Given the description of an element on the screen output the (x, y) to click on. 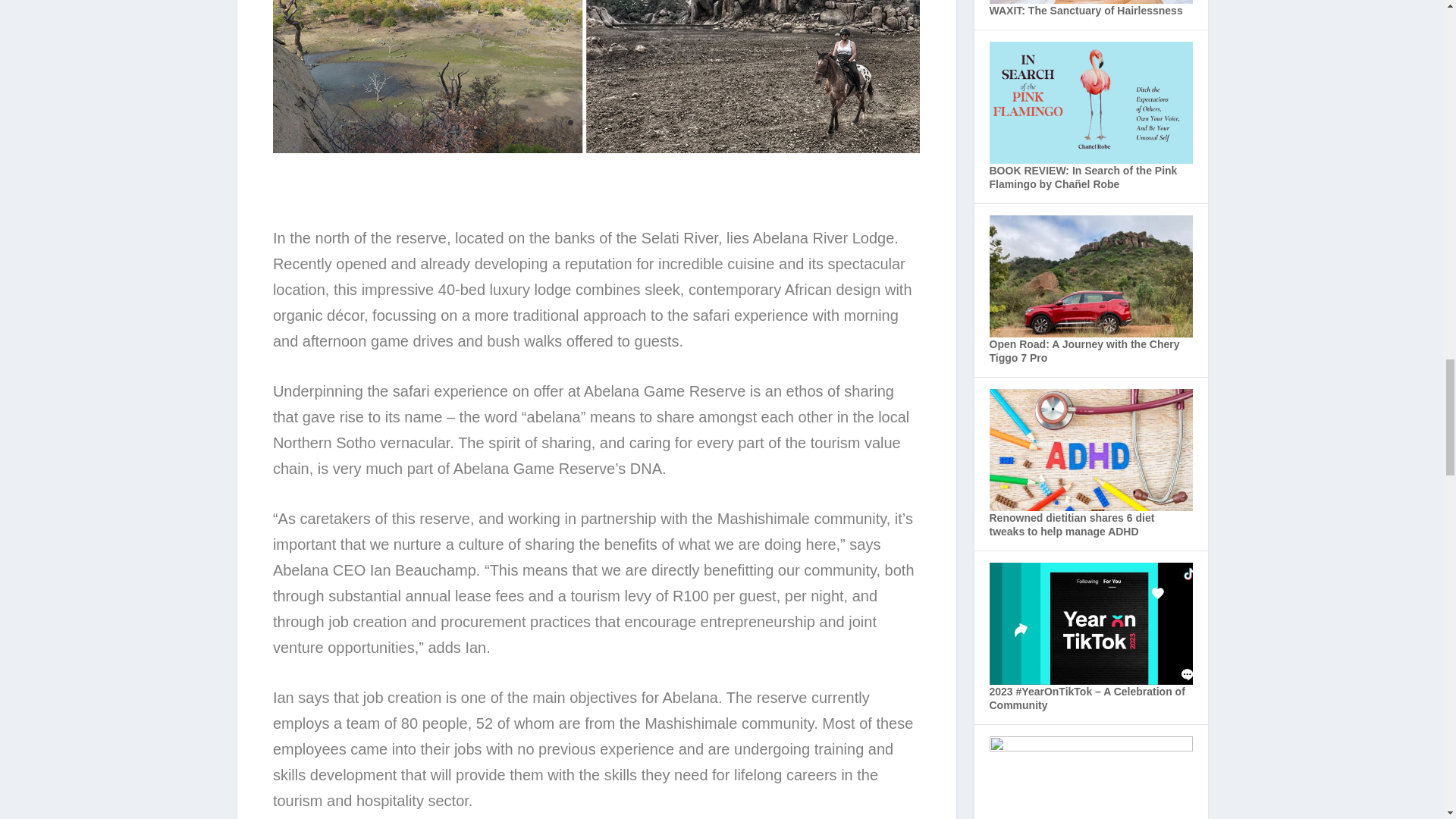
Gallery (596, 149)
